Given the description of an element on the screen output the (x, y) to click on. 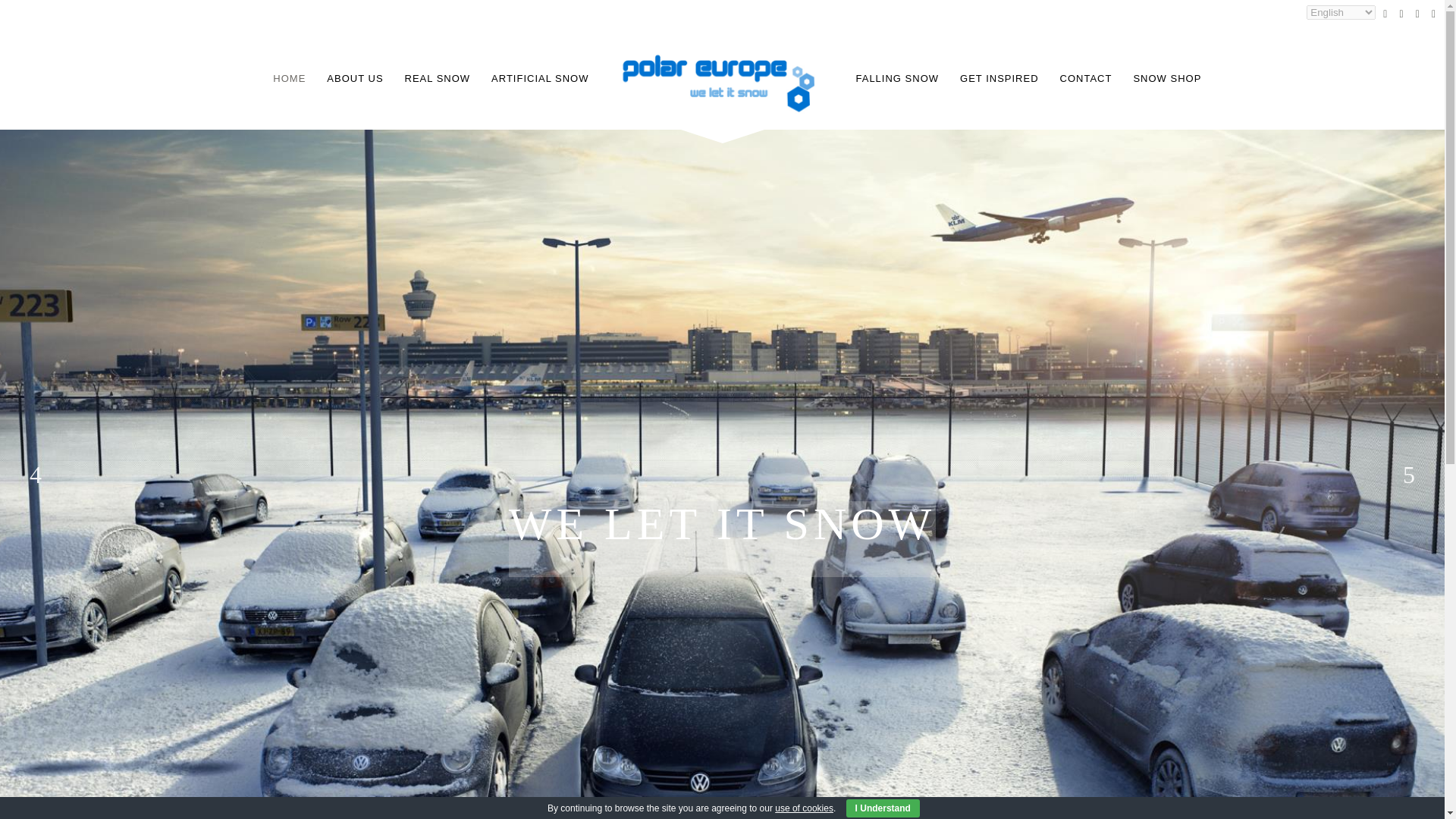
HOME (288, 78)
GET INSPIRED (999, 78)
FALLING SNOW (896, 78)
SNOW SHOP (1166, 78)
CONTACT (1085, 78)
Check out our snowshop! (1166, 78)
ABOUT US (354, 78)
ARTIFICIAL SNOW (539, 78)
REAL SNOW (437, 78)
